Given the description of an element on the screen output the (x, y) to click on. 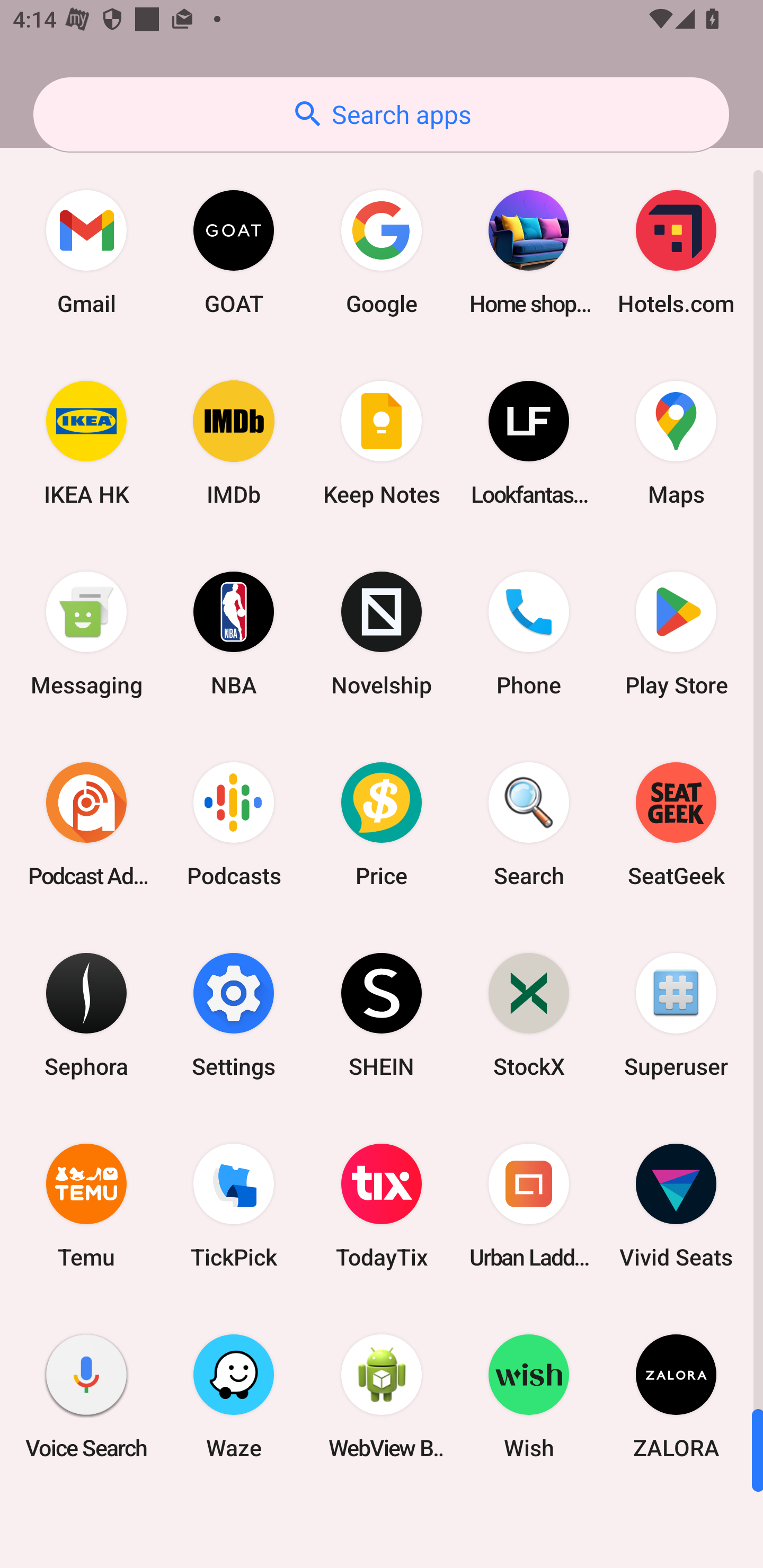
  Search apps (381, 114)
Gmail (86, 252)
GOAT (233, 252)
Google (381, 252)
Home shopping (528, 252)
Hotels.com (676, 252)
IKEA HK (86, 442)
IMDb (233, 442)
Keep Notes (381, 442)
Lookfantastic (528, 442)
Maps (676, 442)
Messaging (86, 633)
NBA (233, 633)
Novelship (381, 633)
Phone (528, 633)
Play Store (676, 633)
Podcast Addict (86, 823)
Podcasts (233, 823)
Price (381, 823)
Search (528, 823)
SeatGeek (676, 823)
Sephora (86, 1014)
Settings (233, 1014)
SHEIN (381, 1014)
StockX (528, 1014)
Superuser (676, 1014)
Temu (86, 1205)
TickPick (233, 1205)
TodayTix (381, 1205)
Urban Ladder (528, 1205)
Vivid Seats (676, 1205)
Voice Search (86, 1396)
Waze (233, 1396)
WebView Browser Tester (381, 1396)
Wish (528, 1396)
ZALORA (676, 1396)
